Given the description of an element on the screen output the (x, y) to click on. 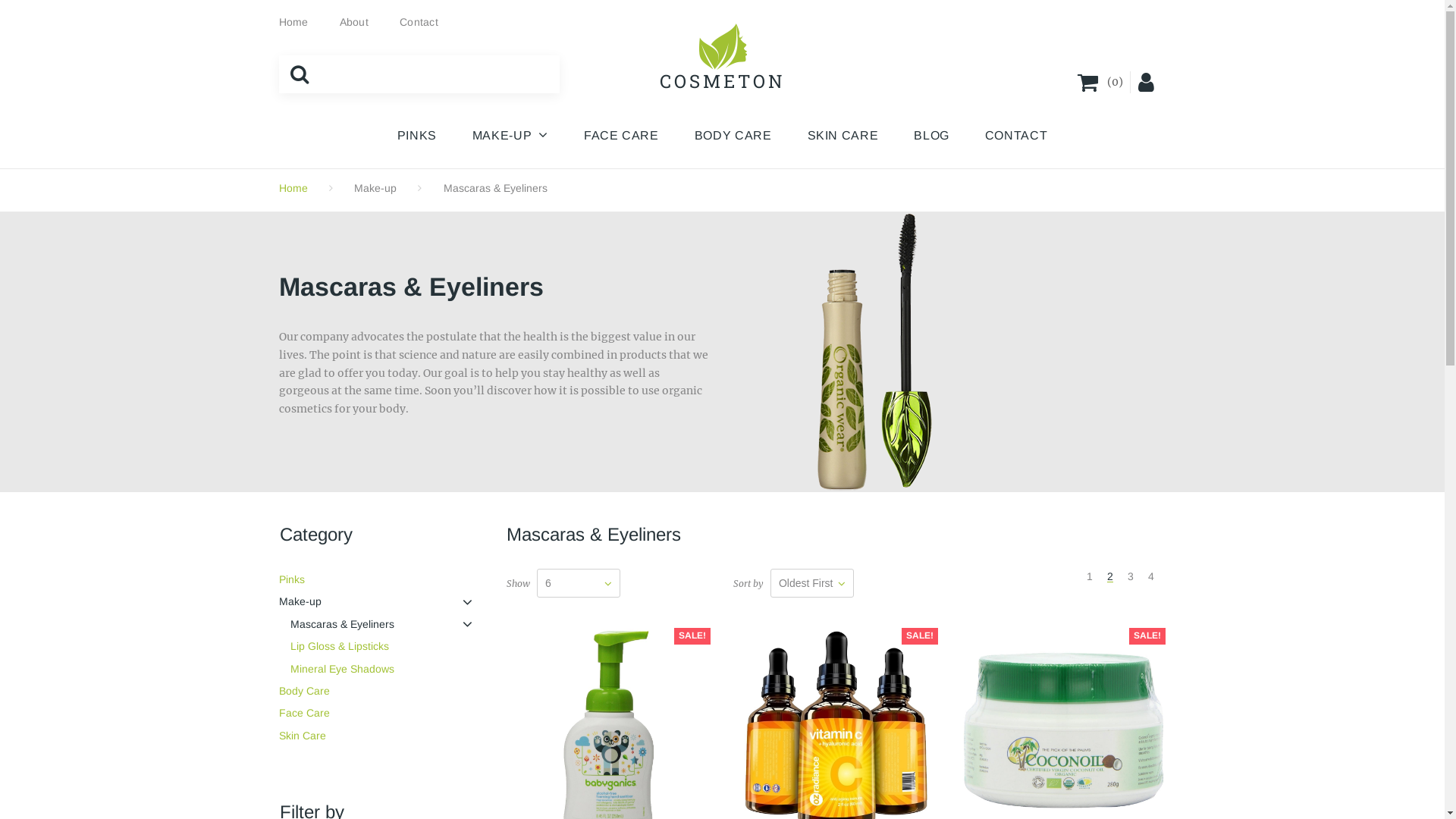
BLOG Element type: text (931, 136)
Lip Gloss & Lipsticks Element type: text (381, 646)
Make-up Element type: text (375, 188)
Make-up Element type: text (381, 601)
Home Element type: text (293, 21)
Contact Element type: text (418, 21)
Body Care Element type: text (381, 691)
1 Element type: text (1089, 576)
MAKE-UP Element type: text (510, 136)
Skin Care Element type: text (381, 735)
PINKS Element type: text (417, 136)
COSMETON Element type: text (722, 81)
Mascaras & Eyeliners Element type: text (381, 624)
Face Care Element type: text (381, 713)
BODY CARE Element type: text (733, 136)
Mascaras & Eyeliners Element type: text (495, 188)
Home Element type: text (293, 188)
CONTACT Element type: text (1015, 136)
FACE CARE Element type: text (621, 136)
Pinks Element type: text (381, 579)
Mascaras & Eyeliners Element type: hover (874, 351)
3 Element type: text (1130, 576)
(0) Element type: text (1100, 82)
Mineral Eye Shadows Element type: text (381, 669)
2 Element type: text (1110, 576)
SKIN CARE Element type: text (843, 136)
About Element type: text (353, 21)
4 Element type: text (1151, 576)
